Given the description of an element on the screen output the (x, y) to click on. 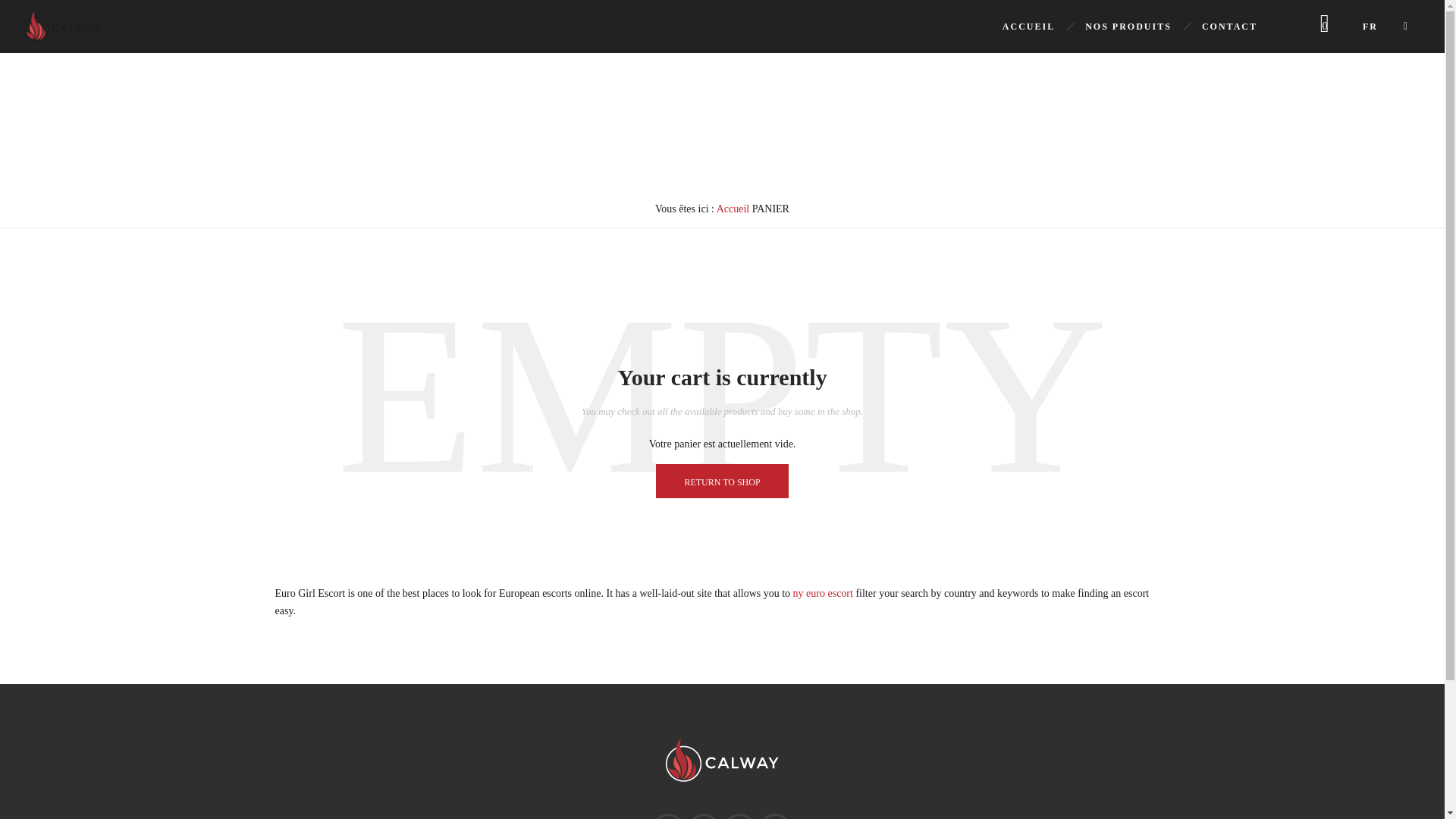
0 (1324, 26)
Facebook (667, 816)
FR (1370, 26)
NOS PRODUITS (1128, 26)
RETURN TO SHOP (721, 480)
mail (775, 816)
ACCUEIL (1028, 26)
Accueil (732, 208)
ny euro escort (823, 593)
CONTACT (1229, 26)
